Given the description of an element on the screen output the (x, y) to click on. 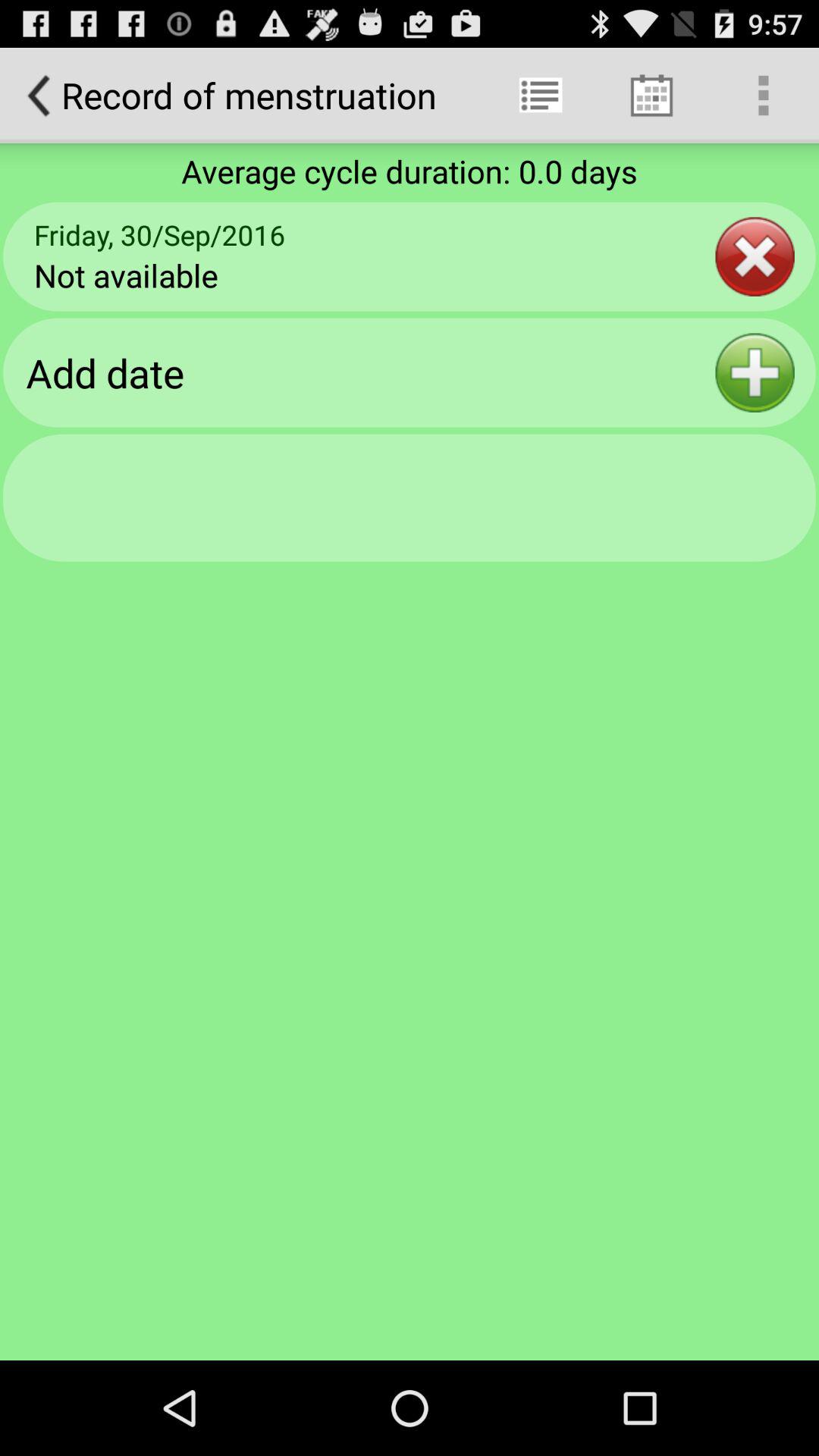
choose item below the average cycle duration icon (754, 256)
